Given the description of an element on the screen output the (x, y) to click on. 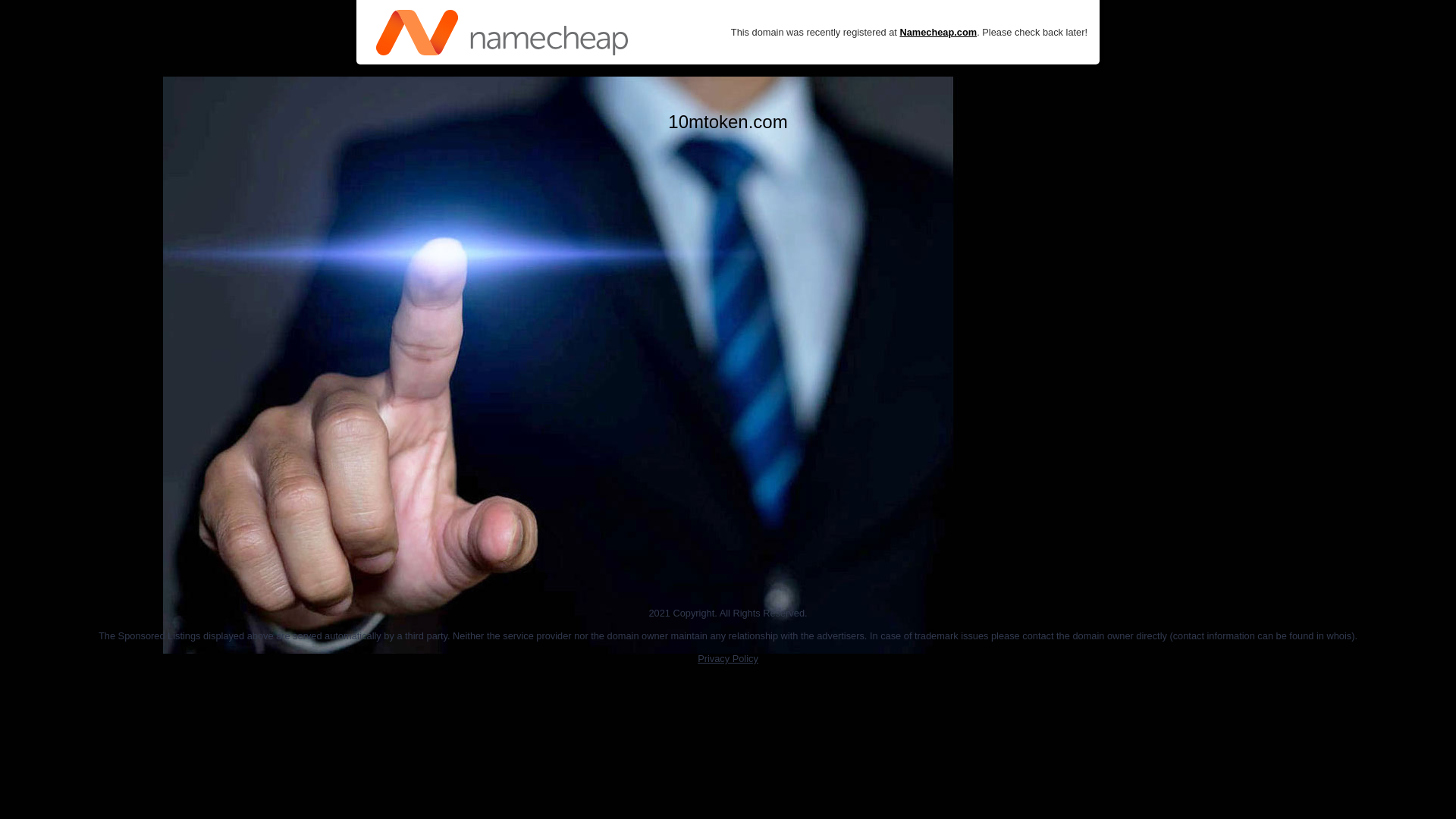
Privacy Policy Element type: text (727, 658)
Namecheap.com Element type: text (937, 31)
Registered at Namecheap.com Element type: hover (501, 31)
